Given the description of an element on the screen output the (x, y) to click on. 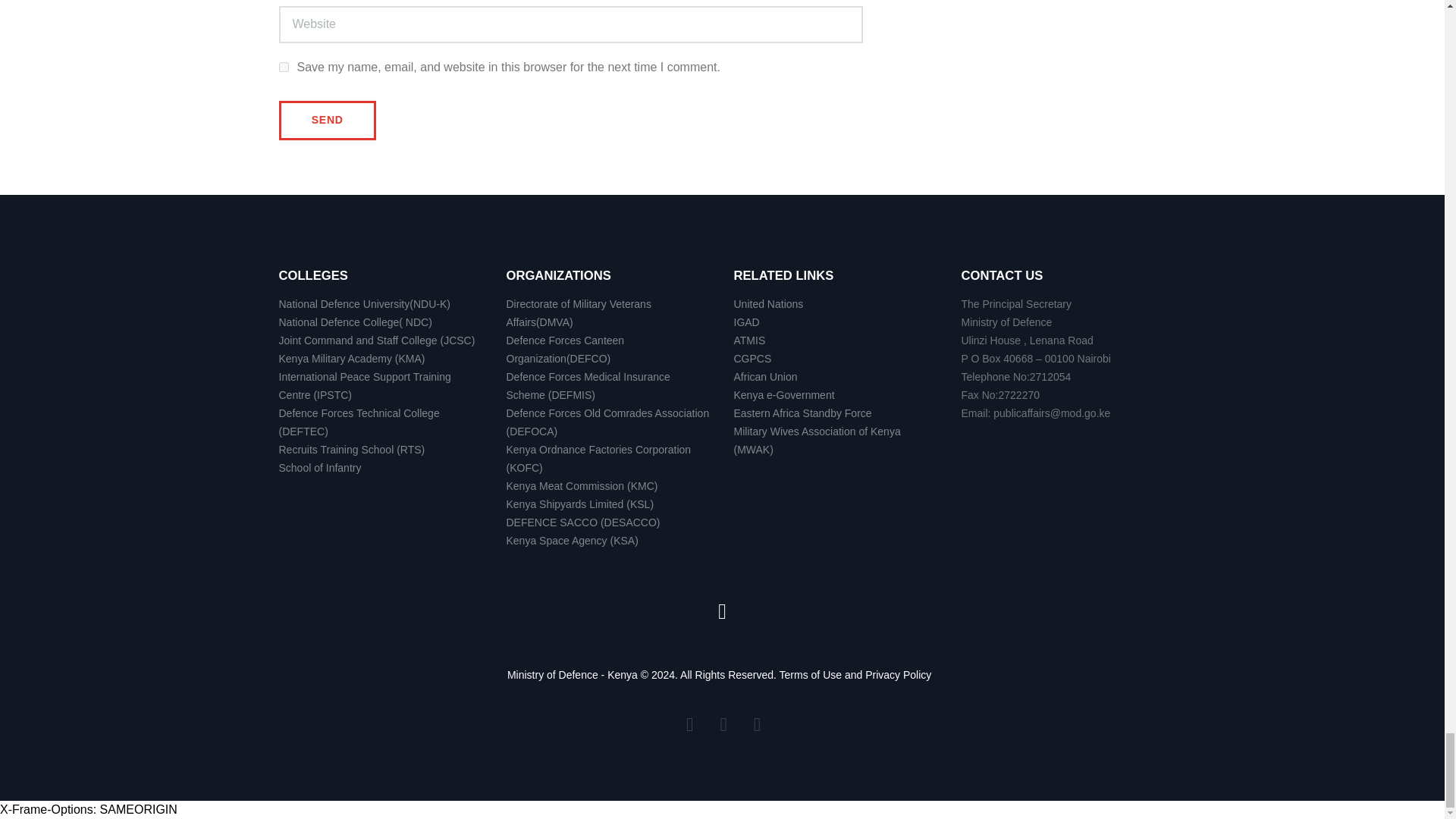
Scroll to top (721, 610)
send (327, 120)
yes (283, 67)
